Given the description of an element on the screen output the (x, y) to click on. 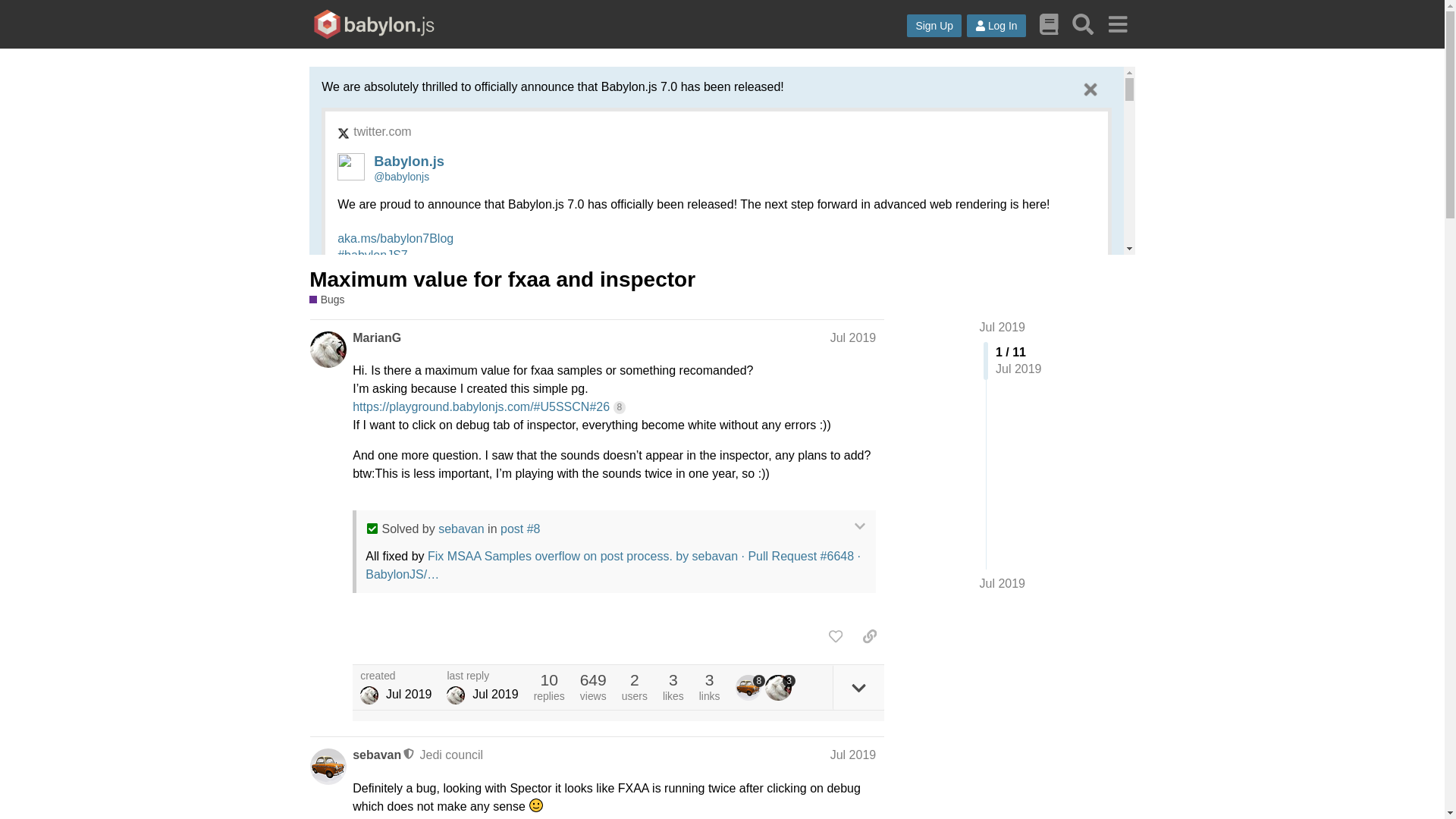
expand topic details (857, 687)
Maximum value for fxaa and inspector (501, 279)
Babylon.js (409, 160)
Documentation (1048, 23)
6:27 PM - 28 Mar 2024 (399, 775)
Post date (852, 337)
MarianG (376, 338)
Please sign up or log in to like this post (835, 636)
Bugs (325, 299)
sebavan (461, 528)
Search (1082, 23)
Jump to the first post (1002, 327)
Babylon.js 7.0 Release Video (406, 814)
twitter.com (381, 131)
Jul 2019 (852, 337)
